Given the description of an element on the screen output the (x, y) to click on. 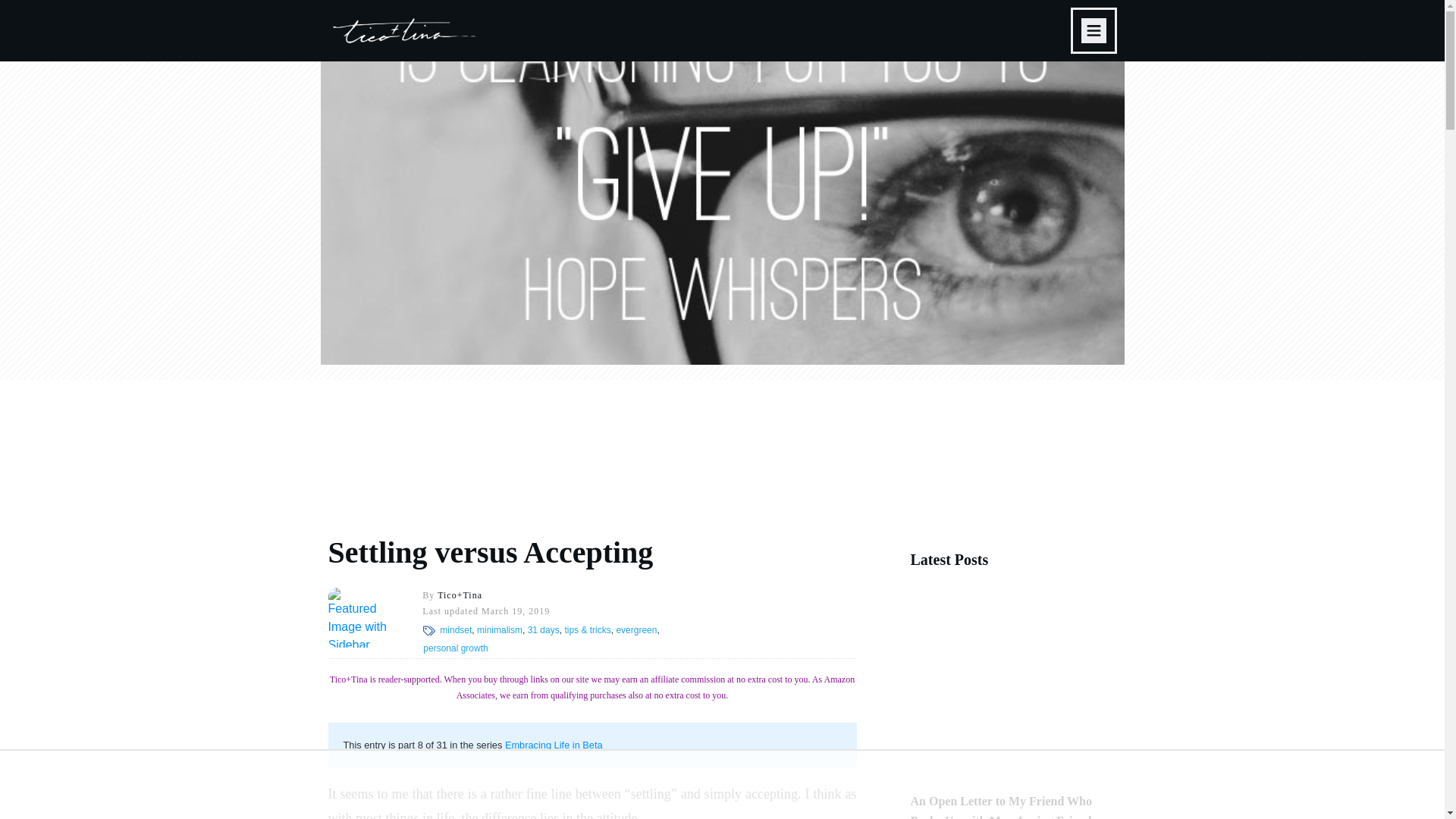
Settling versus Accepting (489, 552)
personal growth (455, 647)
minimalism (499, 629)
Embracing Life in Beta (553, 745)
minimalism (499, 629)
mindset (455, 629)
31 days (543, 629)
31 days (543, 629)
undefined (357, 617)
evergreen (635, 629)
Embracing Life in Beta (553, 745)
evergreen (635, 629)
mindset (455, 629)
personal growth (455, 647)
